Given the description of an element on the screen output the (x, y) to click on. 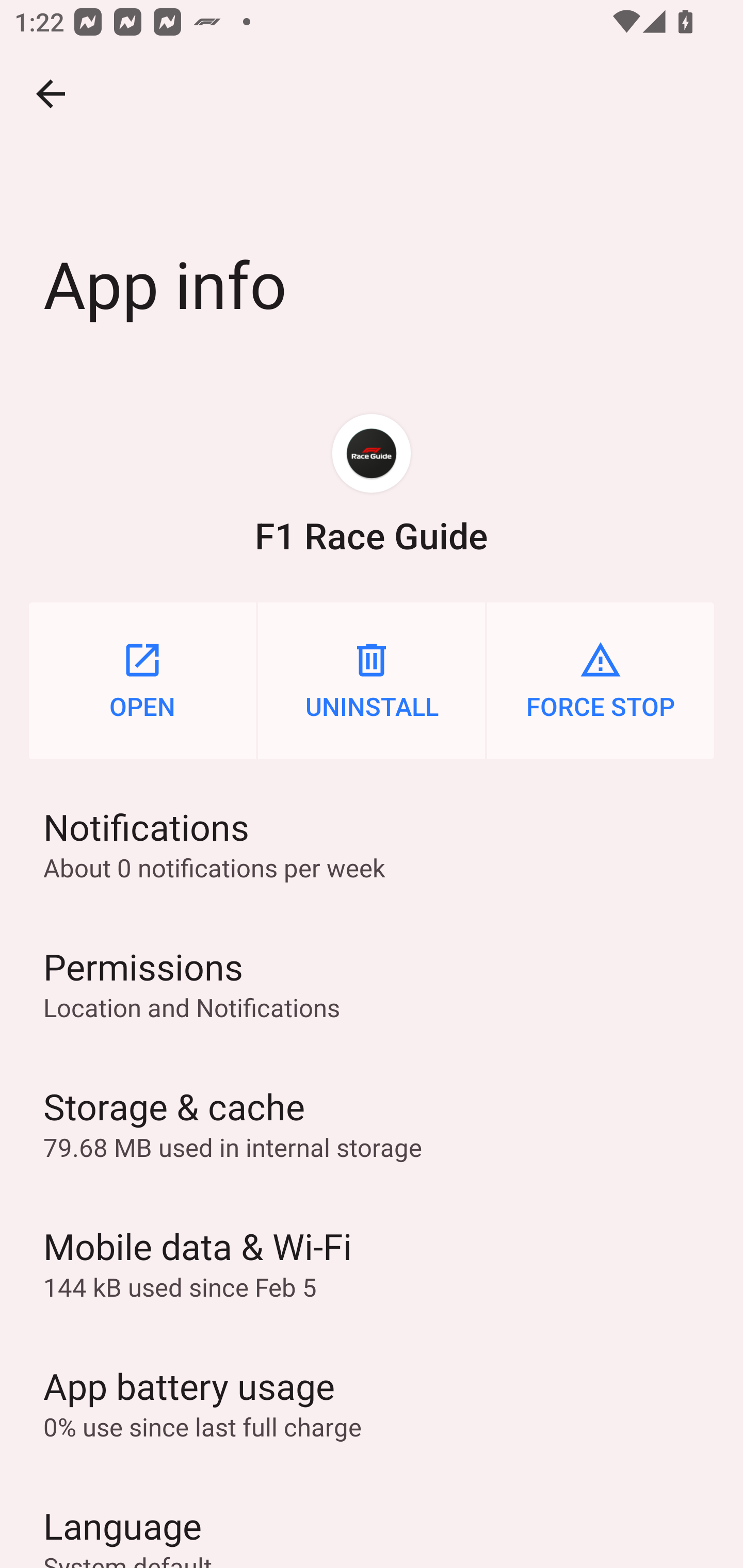
Navigate up (50, 93)
OPEN (141, 680)
UNINSTALL (371, 680)
FORCE STOP (600, 680)
Notifications About 0 notifications per week (371, 843)
Permissions Location and Notifications (371, 983)
Storage & cache 79.68 MB used in internal storage (371, 1123)
Mobile data & Wi‑Fi 144 kB used since Feb 5 (371, 1262)
App battery usage 0% use since last full charge (371, 1402)
Language System default (371, 1520)
